Given the description of an element on the screen output the (x, y) to click on. 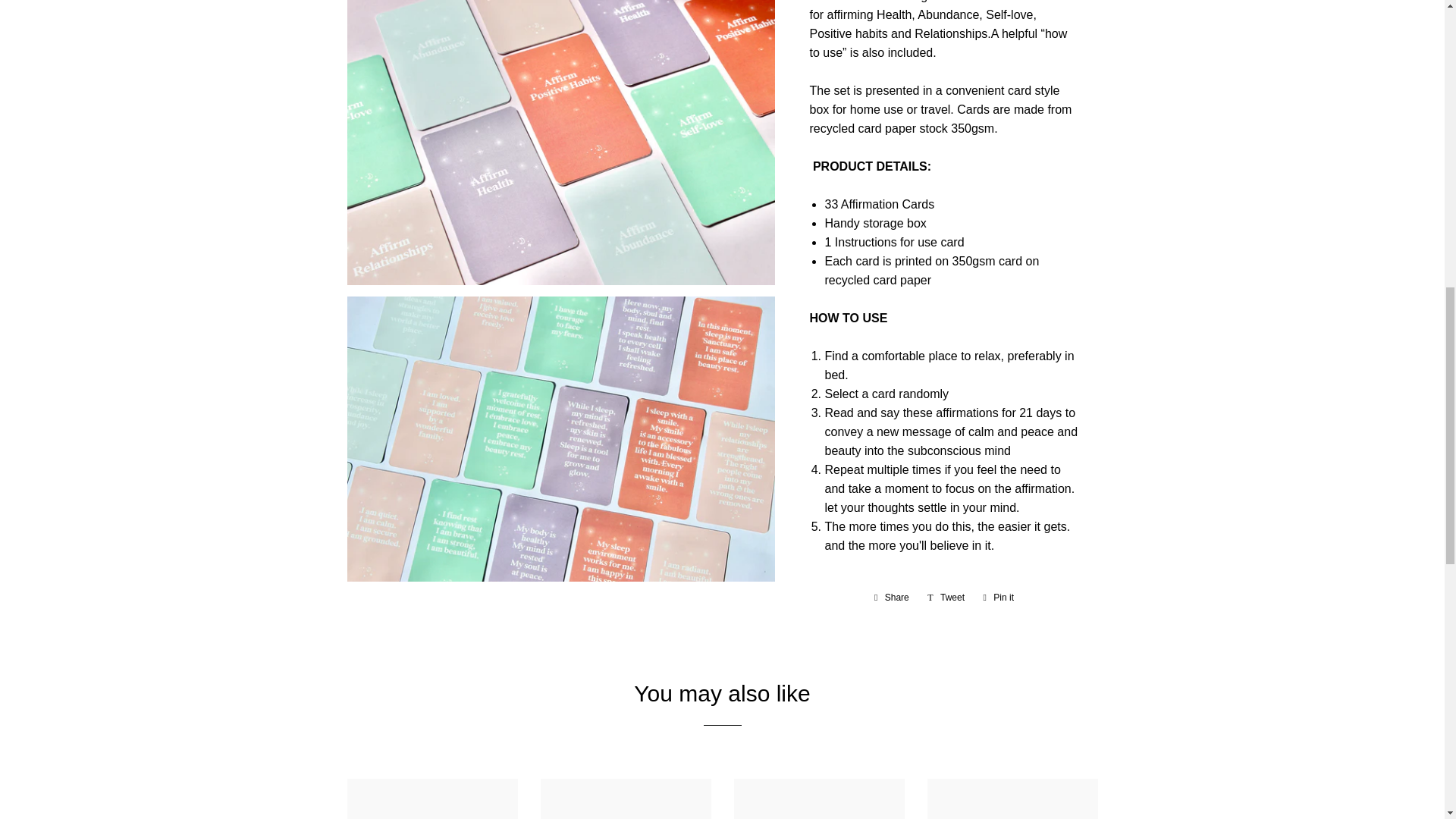
Pin on Pinterest (998, 597)
Tweet on Twitter (946, 597)
Share on Facebook (891, 597)
